Given the description of an element on the screen output the (x, y) to click on. 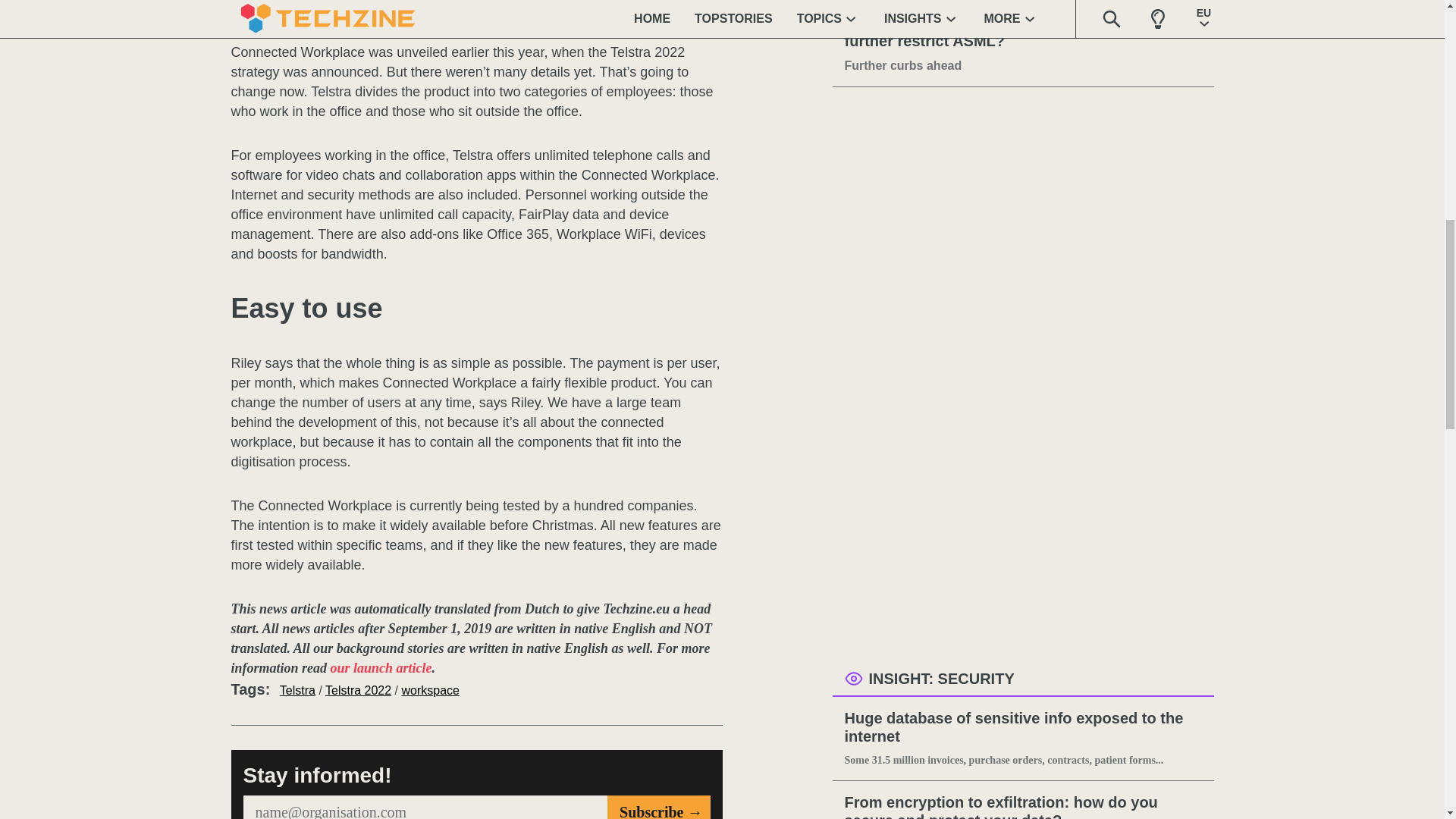
Huge database of sensitive info exposed to the internet (1023, 727)
